Given the description of an element on the screen output the (x, y) to click on. 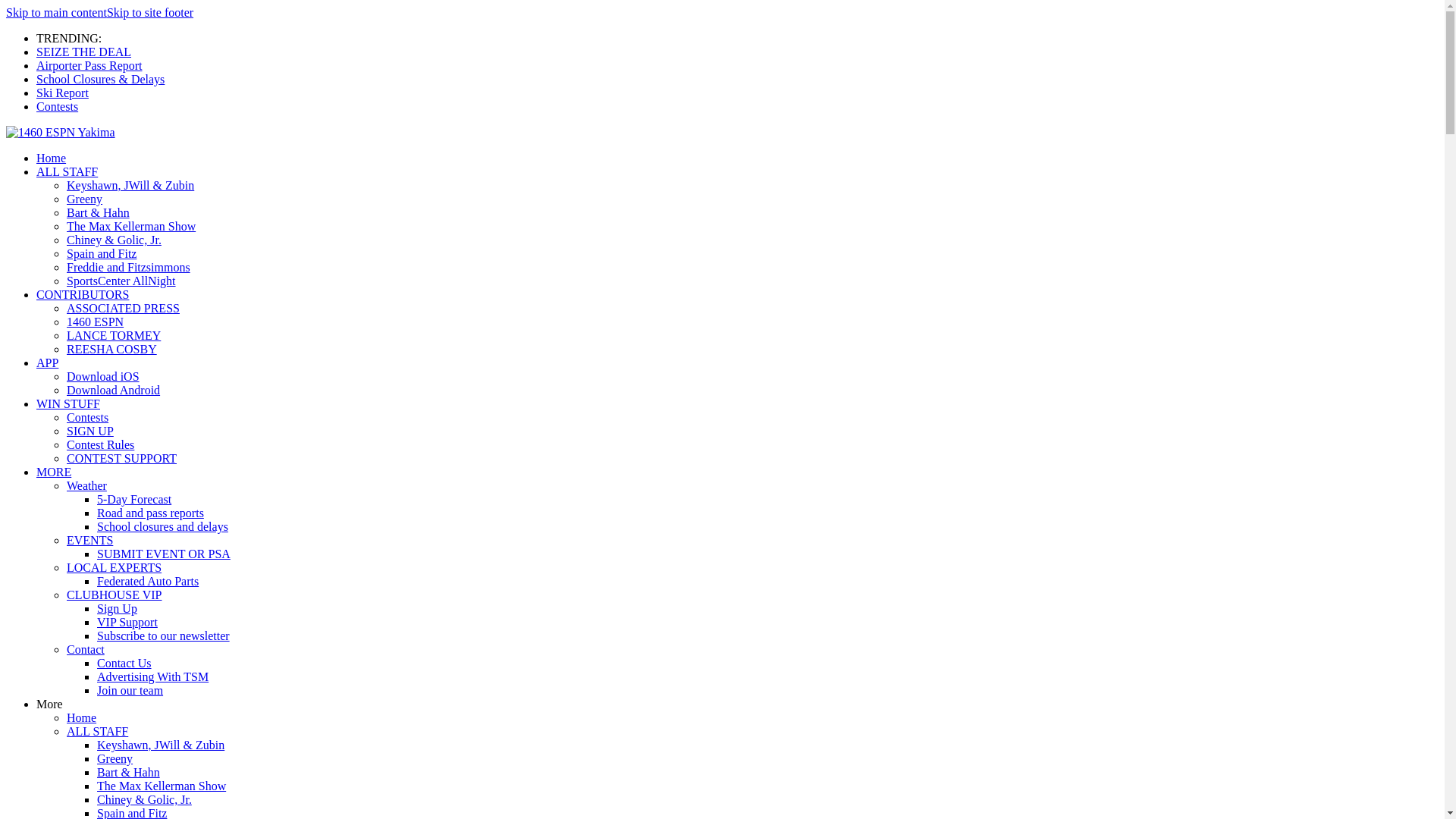
Home Element type: text (50, 157)
1460 ESPN Element type: text (94, 321)
Keyshawn, JWill & Zubin Element type: text (160, 744)
MORE Element type: text (53, 471)
Contests Element type: text (87, 417)
Join our team Element type: text (130, 690)
Download iOS Element type: text (102, 376)
Home Element type: text (81, 717)
Contest Rules Element type: text (100, 444)
SUBMIT EVENT OR PSA Element type: text (163, 553)
Federated Auto Parts Element type: text (147, 580)
Download Android Element type: text (113, 389)
Airporter Pass Report Element type: text (89, 65)
Freddie and Fitzsimmons Element type: text (128, 266)
WIN STUFF Element type: text (68, 403)
Weather Element type: text (86, 485)
The Max Kellerman Show Element type: text (130, 225)
Chiney & Golic, Jr. Element type: text (113, 239)
Skip to site footer Element type: text (149, 12)
School Closures & Delays Element type: text (100, 78)
Greeny Element type: text (84, 198)
VIP Support Element type: text (127, 621)
5-Day Forecast Element type: text (134, 498)
LANCE TORMEY Element type: text (113, 335)
Sign Up Element type: text (117, 608)
ALL STAFF Element type: text (97, 730)
SportsCenter AllNight Element type: text (120, 280)
Advertising With TSM Element type: text (152, 676)
CONTEST SUPPORT Element type: text (121, 457)
REESHA COSBY Element type: text (111, 348)
Skip to main content Element type: text (56, 12)
School closures and delays Element type: text (162, 526)
The Max Kellerman Show Element type: text (161, 785)
Bart & Hahn Element type: text (128, 771)
APP Element type: text (47, 362)
SEIZE THE DEAL Element type: text (83, 51)
Spain and Fitz Element type: text (101, 253)
Ski Report Element type: text (62, 92)
ASSOCIATED PRESS Element type: text (122, 307)
Chiney & Golic, Jr. Element type: text (144, 799)
EVENTS Element type: text (89, 539)
CONTRIBUTORS Element type: text (82, 294)
SIGN UP Element type: text (89, 430)
Bart & Hahn Element type: text (97, 212)
Road and pass reports Element type: text (150, 512)
Contests Element type: text (57, 106)
ALL STAFF Element type: text (66, 171)
Subscribe to our newsletter Element type: text (163, 635)
Greeny Element type: text (114, 758)
LOCAL EXPERTS Element type: text (113, 567)
Keyshawn, JWill & Zubin Element type: text (130, 184)
Contact Element type: text (85, 649)
CLUBHOUSE VIP Element type: text (114, 594)
Contact Us Element type: text (124, 662)
